Given the description of an element on the screen output the (x, y) to click on. 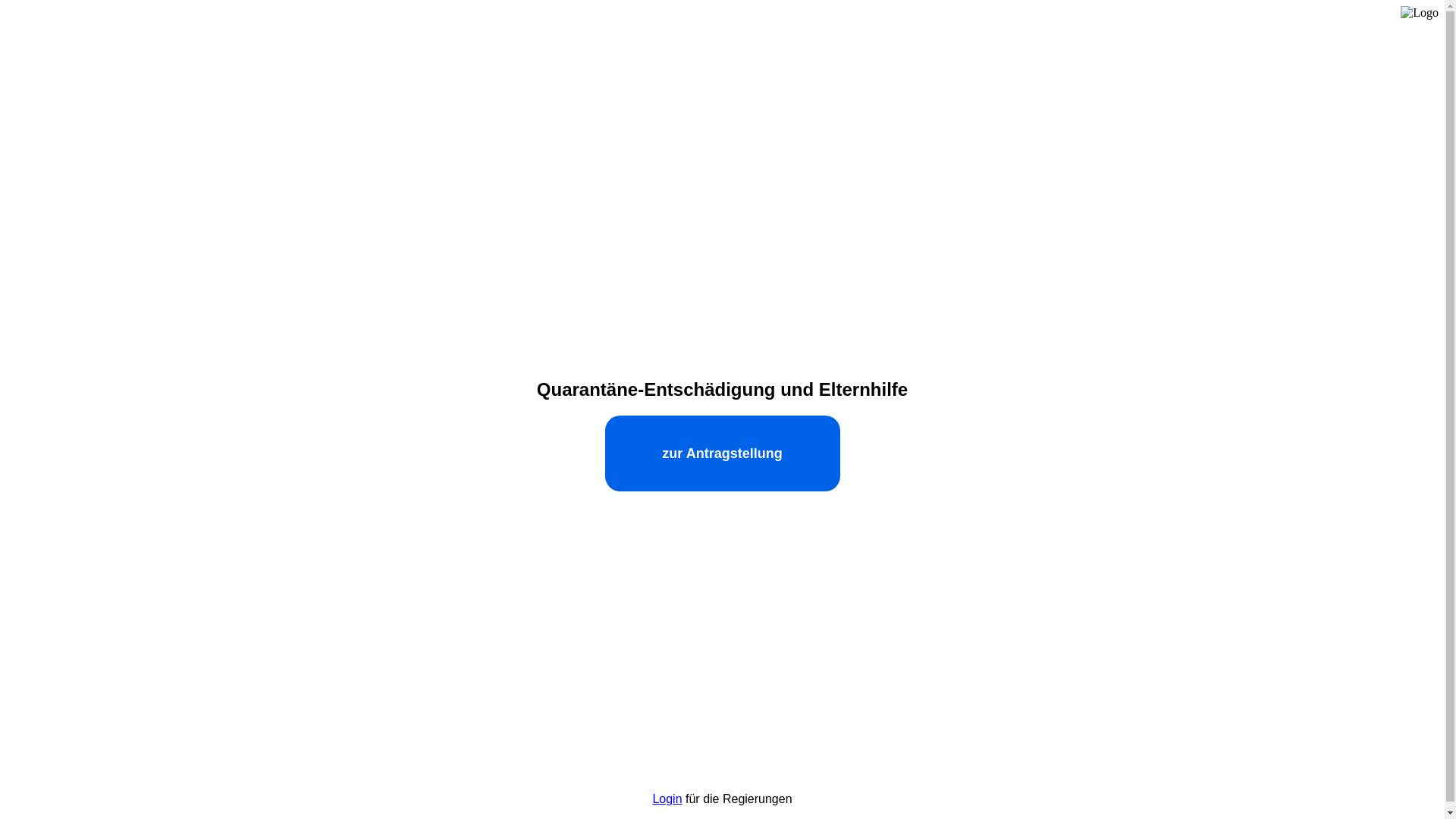
Login Element type: text (666, 798)
zur Antragstellung Element type: text (722, 453)
